Given the description of an element on the screen output the (x, y) to click on. 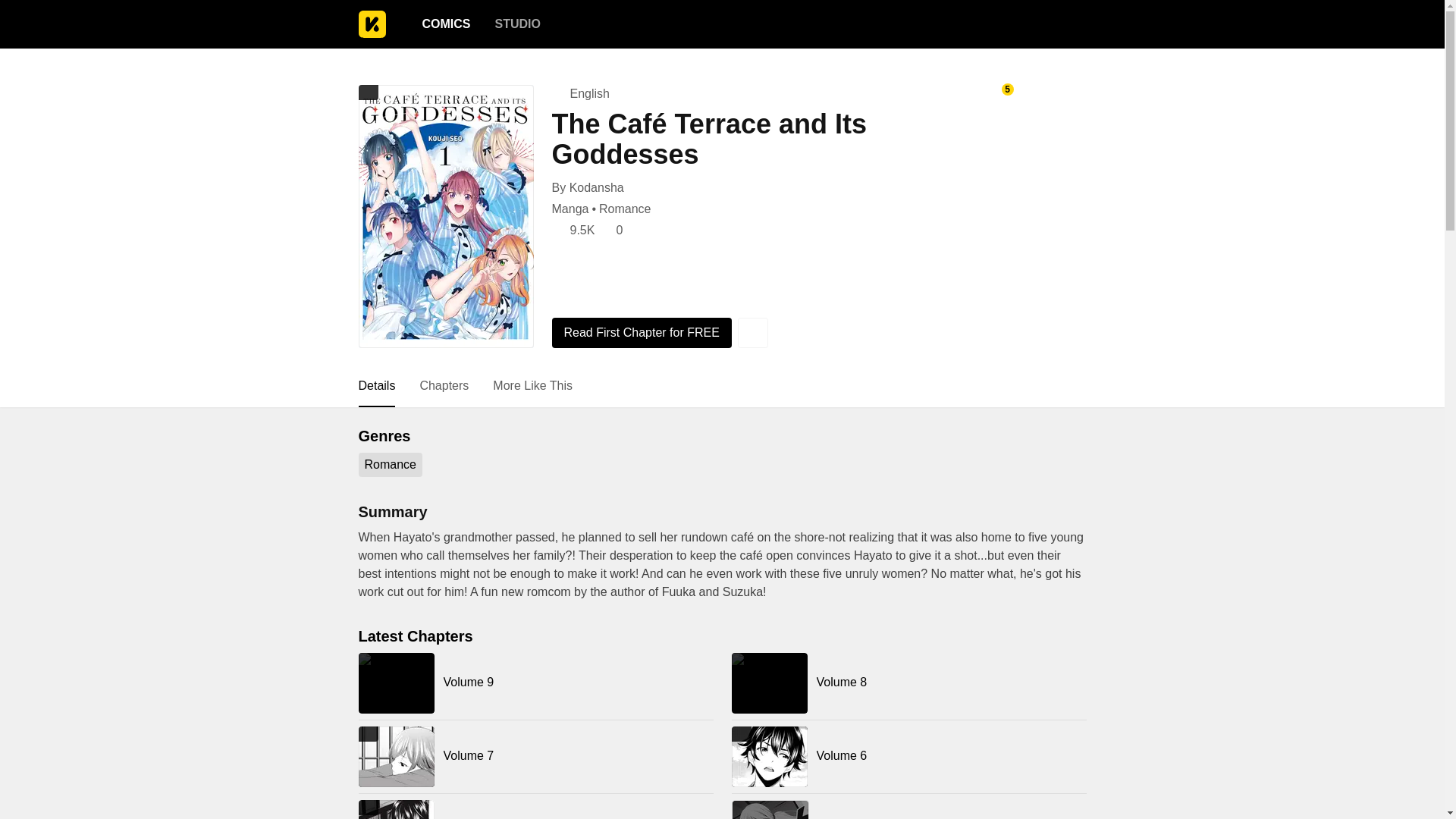
Read First Chapter for FREE (641, 332)
Volume 7 (535, 756)
Romance (624, 208)
Volume 5 (535, 809)
Volume 9 (535, 682)
Volume 9 (535, 682)
COMICS (445, 24)
Volume 6 (908, 756)
By Kodansha (587, 188)
Volume 7 (535, 756)
